Given the description of an element on the screen output the (x, y) to click on. 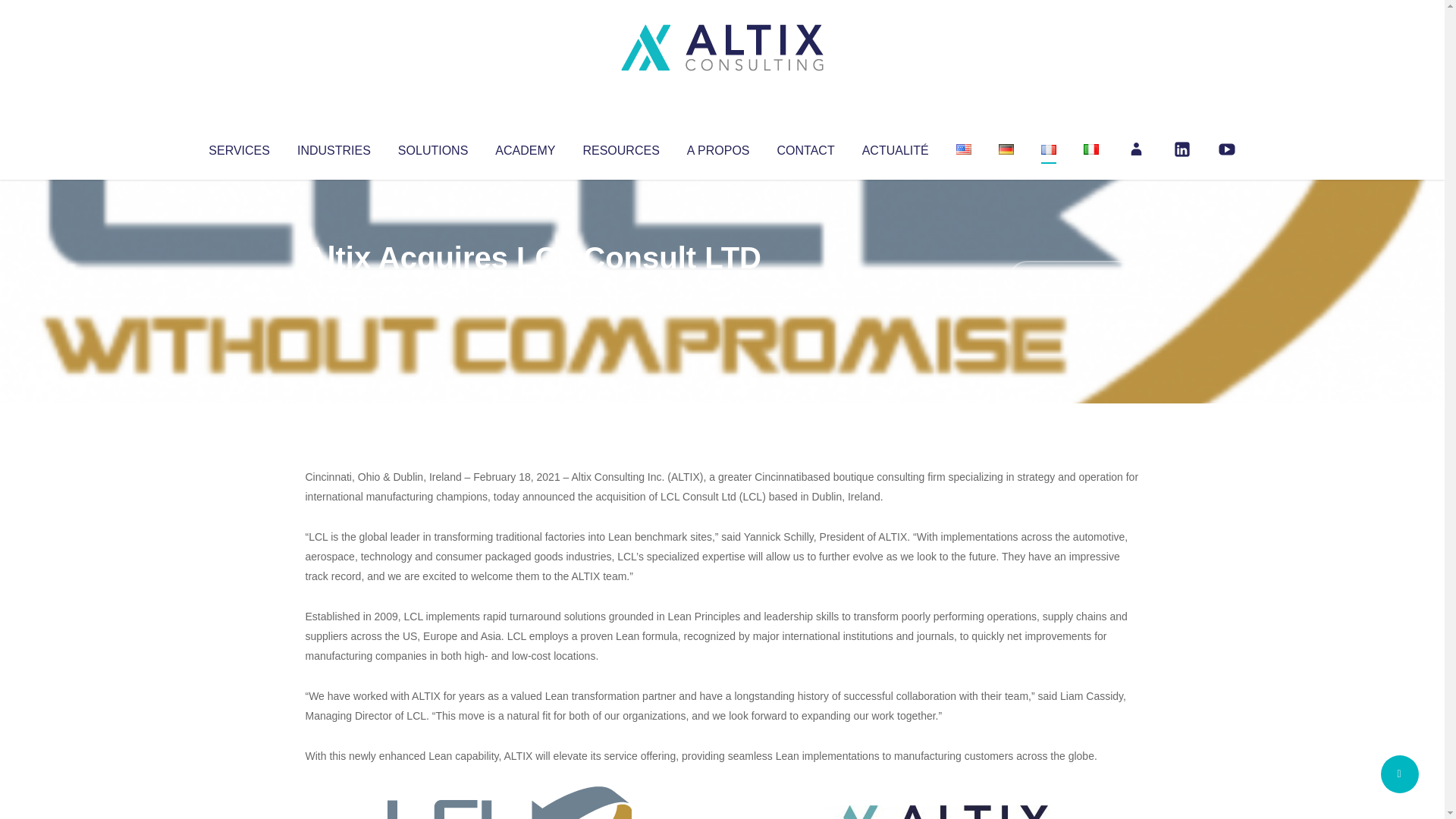
SERVICES (238, 146)
Uncategorized (530, 287)
ACADEMY (524, 146)
A PROPOS (718, 146)
Altix (333, 287)
No Comments (1073, 278)
SOLUTIONS (432, 146)
INDUSTRIES (334, 146)
RESOURCES (620, 146)
Articles par Altix (333, 287)
